Given the description of an element on the screen output the (x, y) to click on. 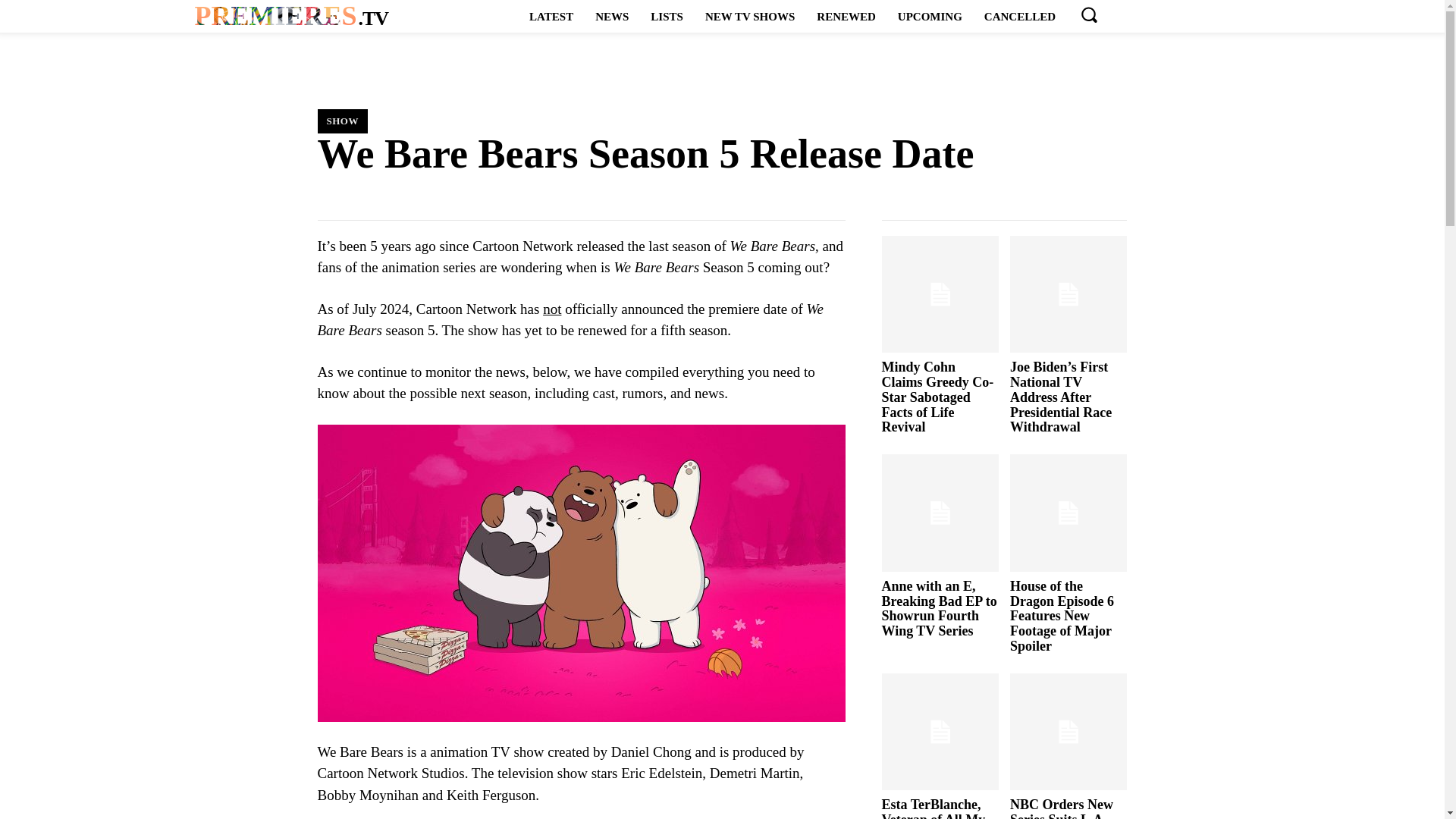
New TV Shows 2022 (929, 15)
NEWS (611, 15)
UPCOMING (929, 15)
RENEWED (846, 15)
CANCELLED (1019, 15)
SHOW (341, 120)
TV Premiere Dates (290, 16)
New TV Shows (749, 15)
Cancelled TV Shows (1019, 15)
LATEST (550, 15)
LISTS (667, 15)
NEW TV SHOWS (290, 16)
Renewed TV Shows (749, 15)
